Given the description of an element on the screen output the (x, y) to click on. 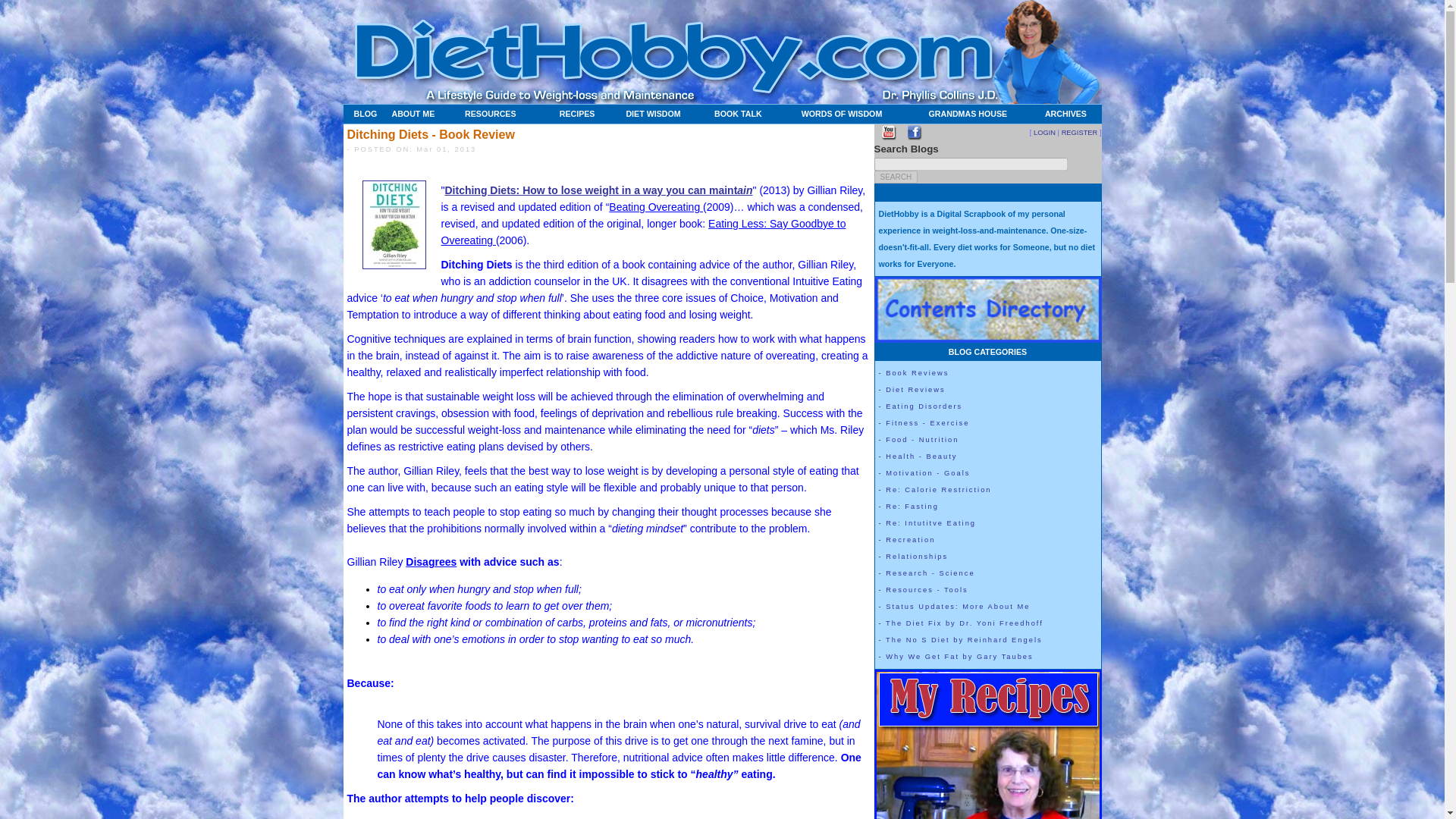
WORDS OF WISDOM (841, 113)
DIET WISDOM (653, 113)
RECIPES (577, 113)
ABOUT ME (424, 113)
BLOG (364, 113)
ARCHIVES (1064, 113)
RESOURCES (503, 113)
SEARCH (895, 176)
GRANDMAS HOUSE (967, 113)
BOOK TALK (737, 113)
